Given the description of an element on the screen output the (x, y) to click on. 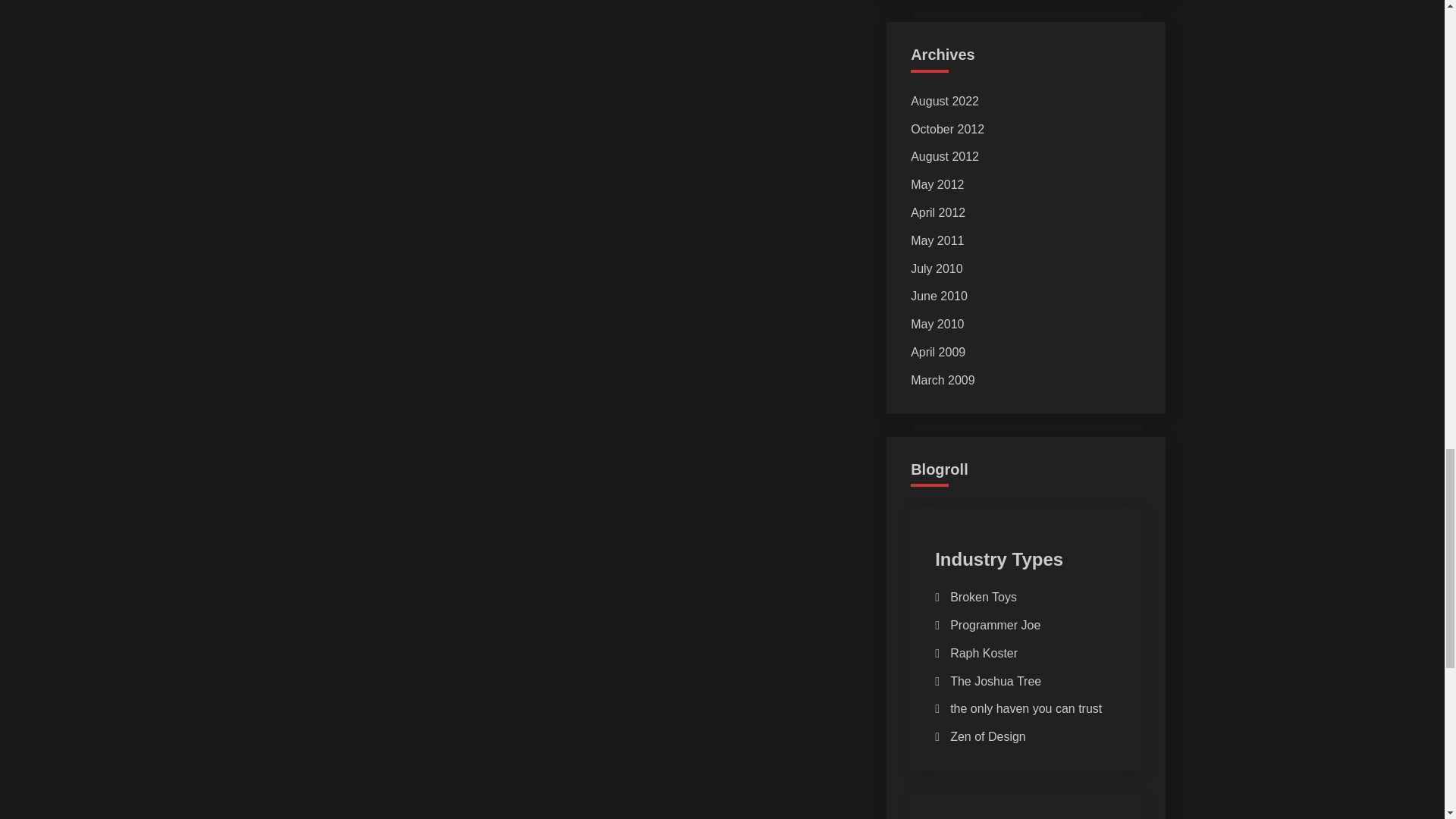
Damion Schubert, who has been at this an awfully long time. (988, 736)
Scott Jennings, aka Lum the Mad. (983, 596)
Joshua Kriegshauser of SOE on all kinds of stuff. (995, 680)
